Given the description of an element on the screen output the (x, y) to click on. 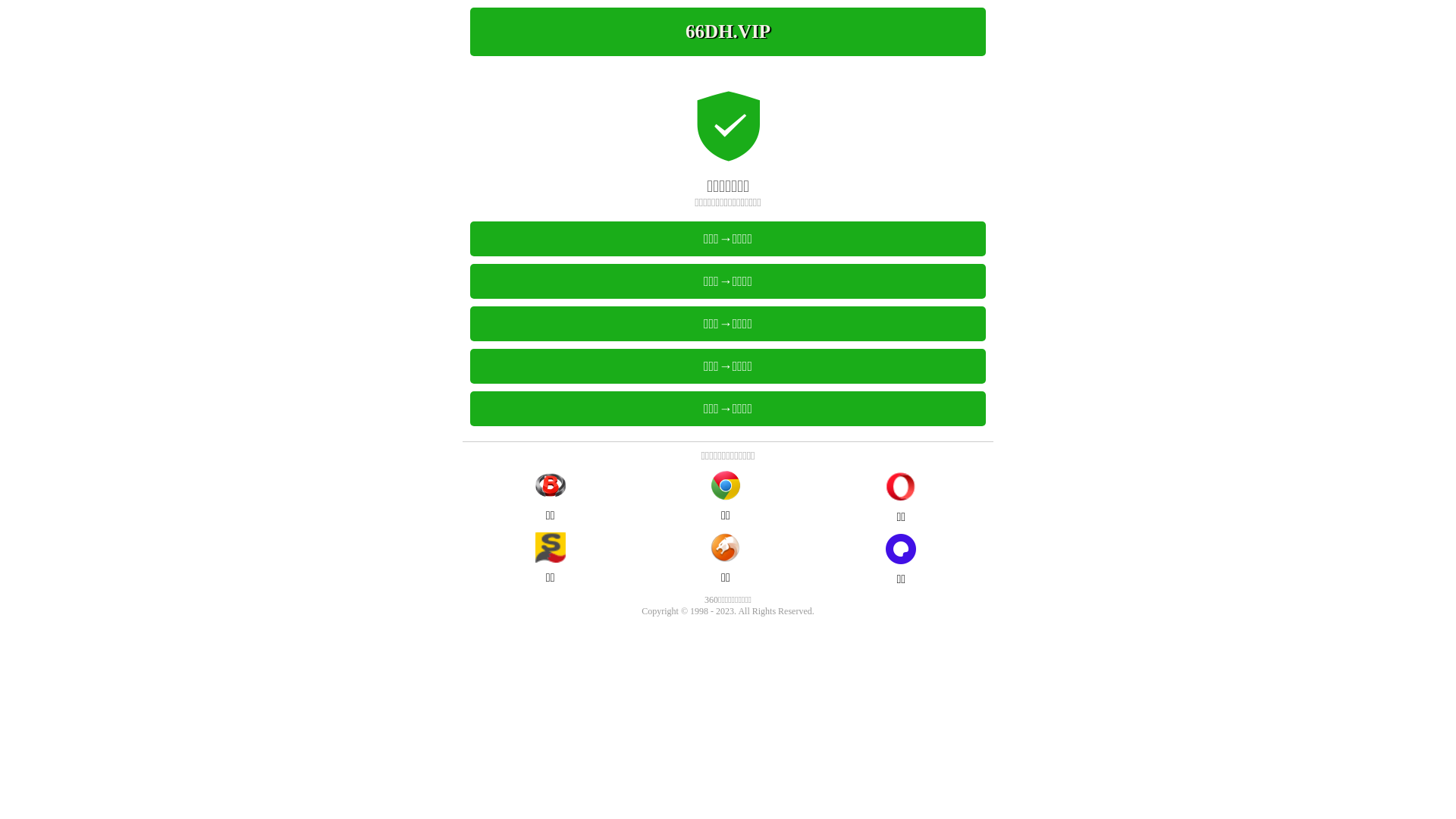
66DH.VIP Element type: text (727, 31)
